Given the description of an element on the screen output the (x, y) to click on. 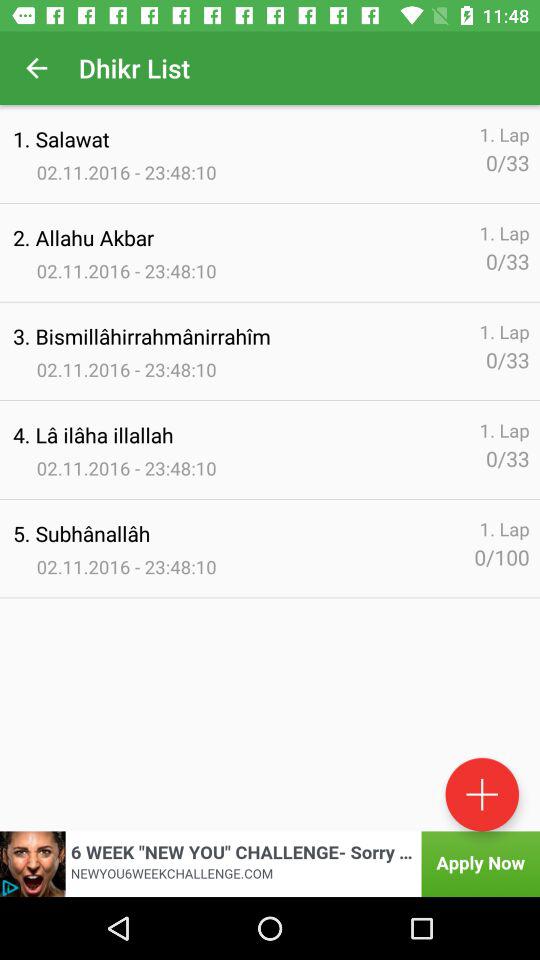
go to website (270, 864)
